Given the description of an element on the screen output the (x, y) to click on. 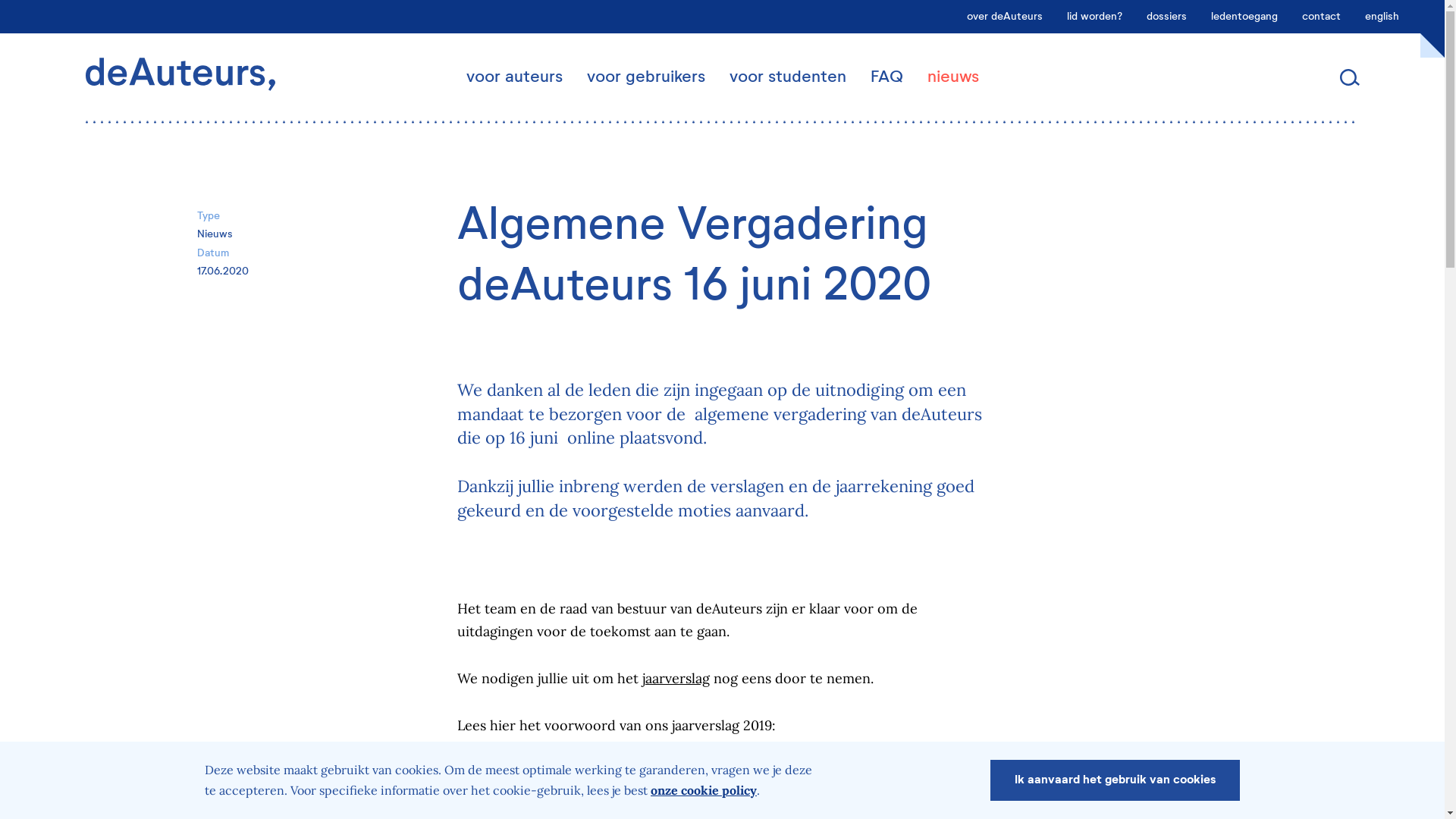
voor auteurs Element type: text (513, 77)
lid worden? Element type: text (1094, 16)
voor studenten Element type: text (787, 77)
onze cookie policy Element type: text (703, 789)
over deAuteurs Element type: text (1004, 16)
Ik aanvaard het gebruik van cookies Element type: text (1114, 779)
voor gebruikers Element type: text (645, 77)
jaarverslag Element type: text (675, 678)
FAQ Element type: text (886, 77)
contact Element type: text (1320, 16)
nieuws Element type: text (952, 77)
dossiers Element type: text (1166, 16)
english Element type: text (1381, 16)
ledentoegang Element type: text (1243, 16)
